Given the description of an element on the screen output the (x, y) to click on. 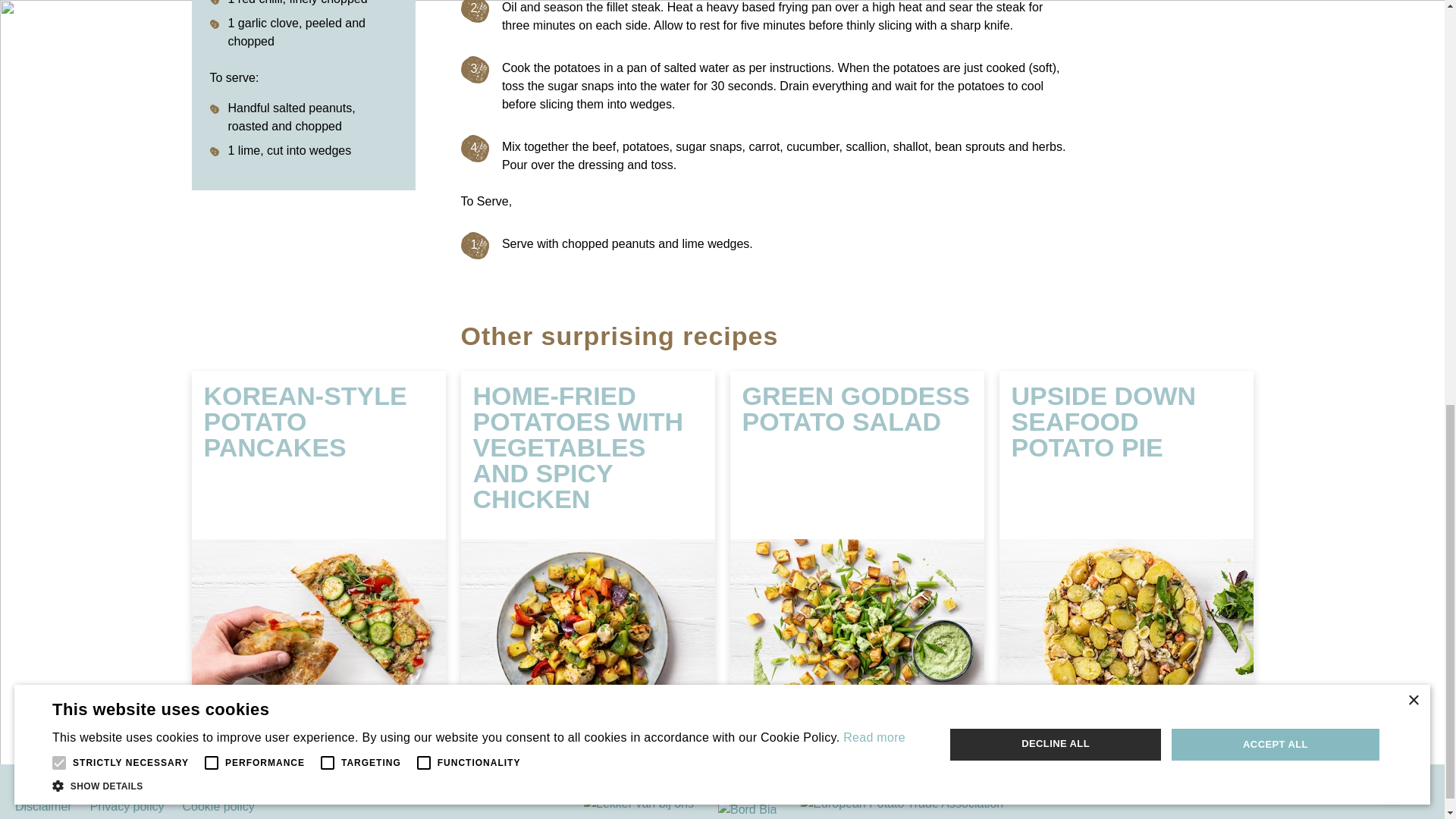
Privacy policy (127, 806)
Cookie policy (217, 806)
Disclaimer (42, 806)
